Given the description of an element on the screen output the (x, y) to click on. 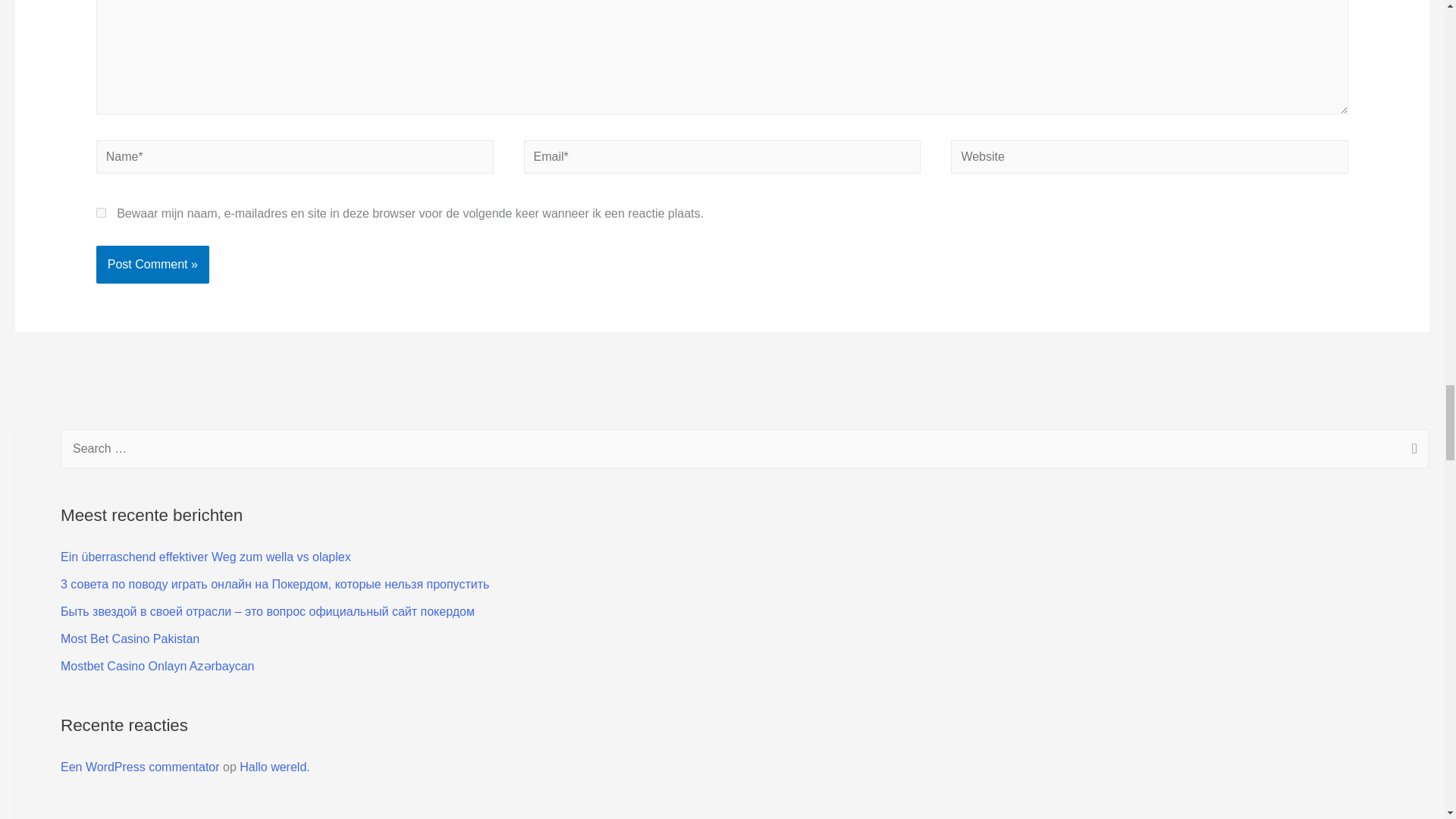
Most Bet Casino Pakistan (130, 638)
Hallo wereld. (274, 766)
yes (101, 212)
Een WordPress commentator (140, 766)
